Given the description of an element on the screen output the (x, y) to click on. 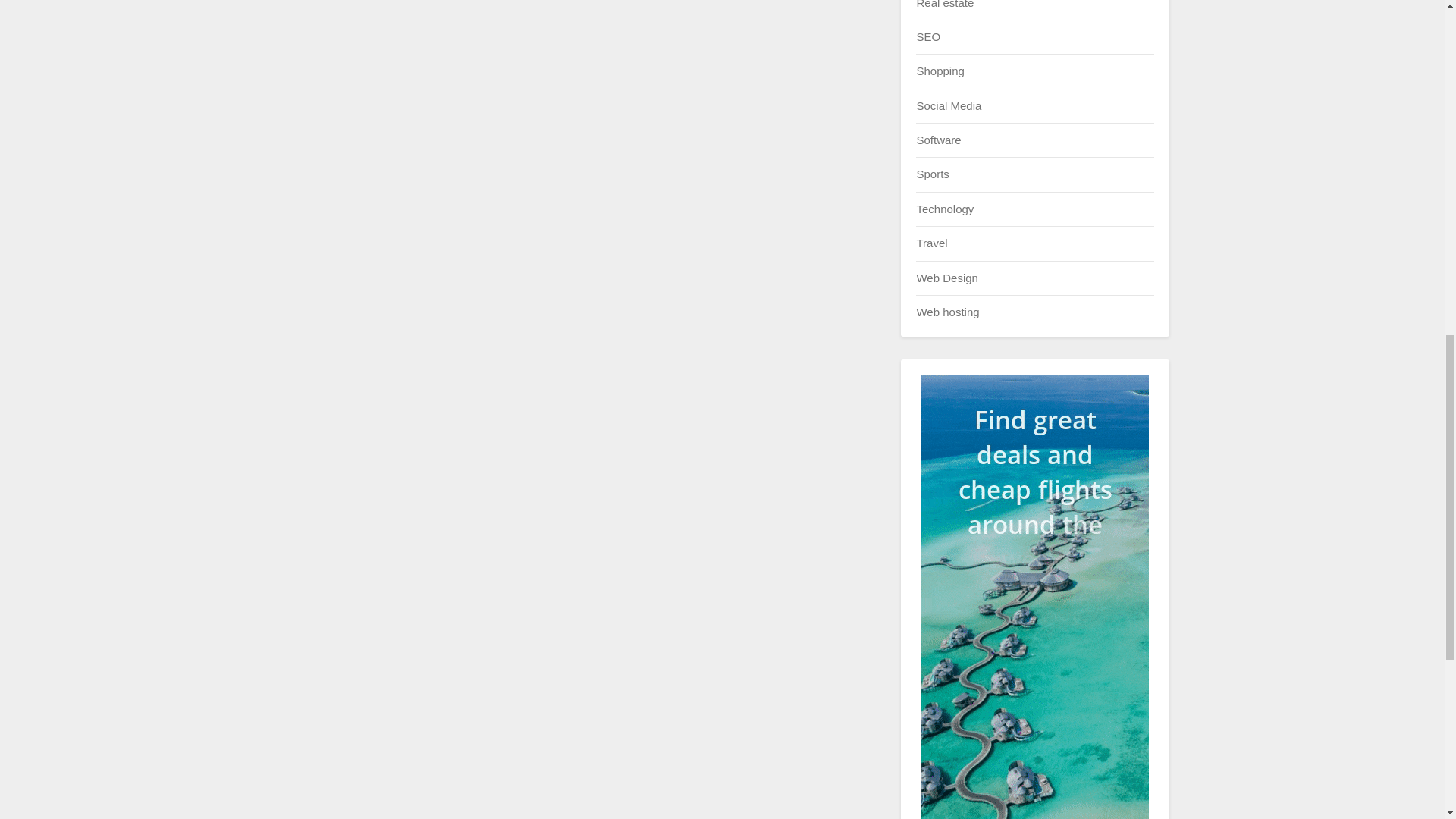
Shopping (939, 70)
Travel (931, 242)
Software (937, 139)
Social Media (948, 105)
Sports (932, 173)
Real estate (944, 4)
Technology (944, 208)
SEO (927, 36)
